Given the description of an element on the screen output the (x, y) to click on. 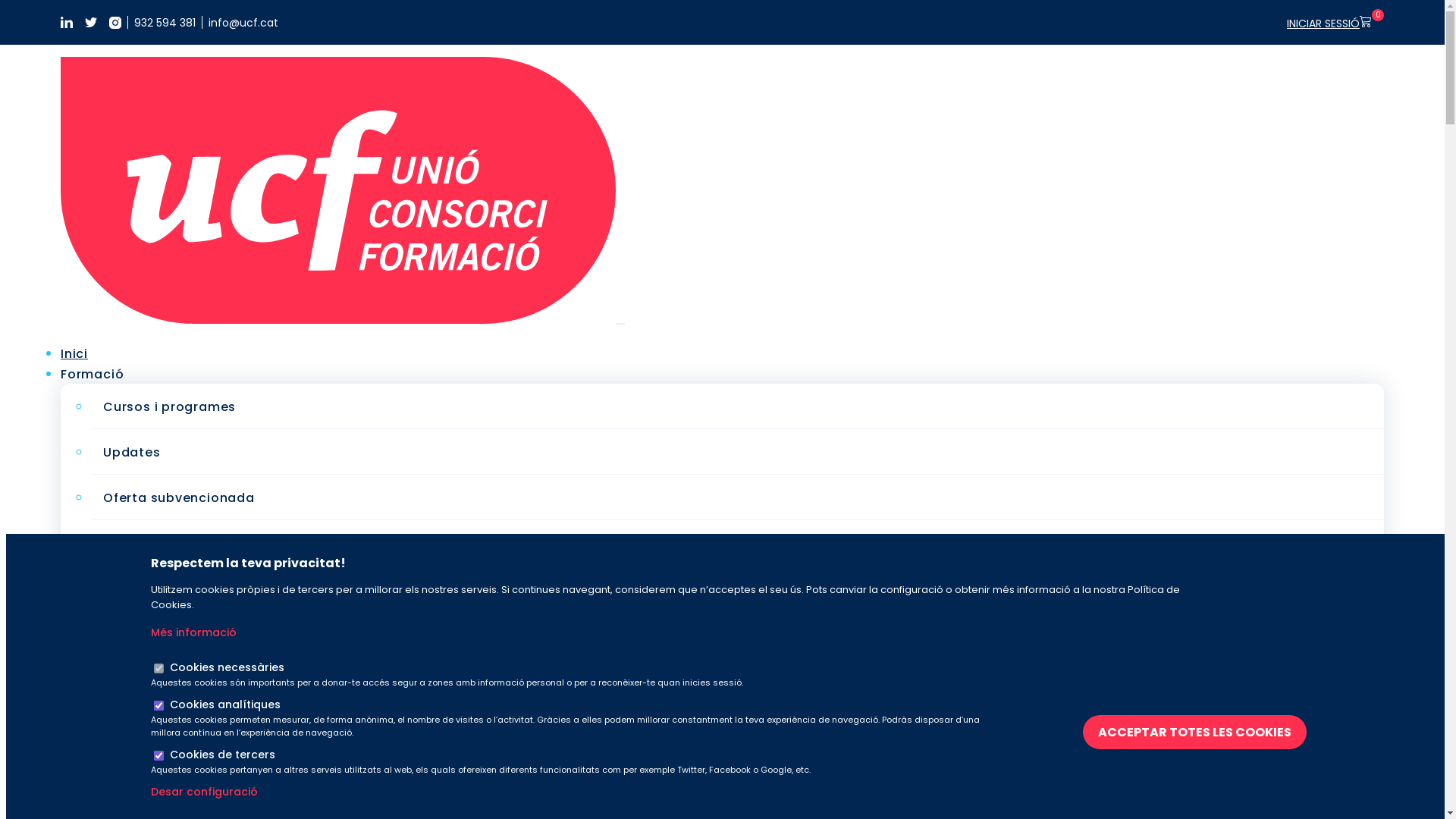
Nosaltres Element type: text (92, 637)
Cerca Element type: text (646, 512)
Cursos i programes Element type: text (169, 406)
https://www.instagram.com/ucformacio/ Element type: text (115, 22)
Solucions a mida Element type: text (118, 575)
Qui som Element type: text (130, 669)
Updates Element type: text (131, 452)
https://twitter.com/UCFormacio Element type: text (90, 22)
ACCEPTAR TOTES LES COOKIES Element type: text (1194, 731)
On som Element type: text (128, 806)
Blog Element type: text (75, 616)
Withdraw consent Element type: text (1088, 731)
info@ucf.cat Element type: text (243, 22)
0 Element type: text (1371, 22)
Inici Element type: text (73, 353)
932 594 381 Element type: text (164, 22)
https://www.linkedin.com/company/uni-consorci-formaci-/ Element type: text (66, 22)
Com ho fem Element type: text (144, 760)
Oferta subvencionada Element type: text (178, 497)
